Given the description of an element on the screen output the (x, y) to click on. 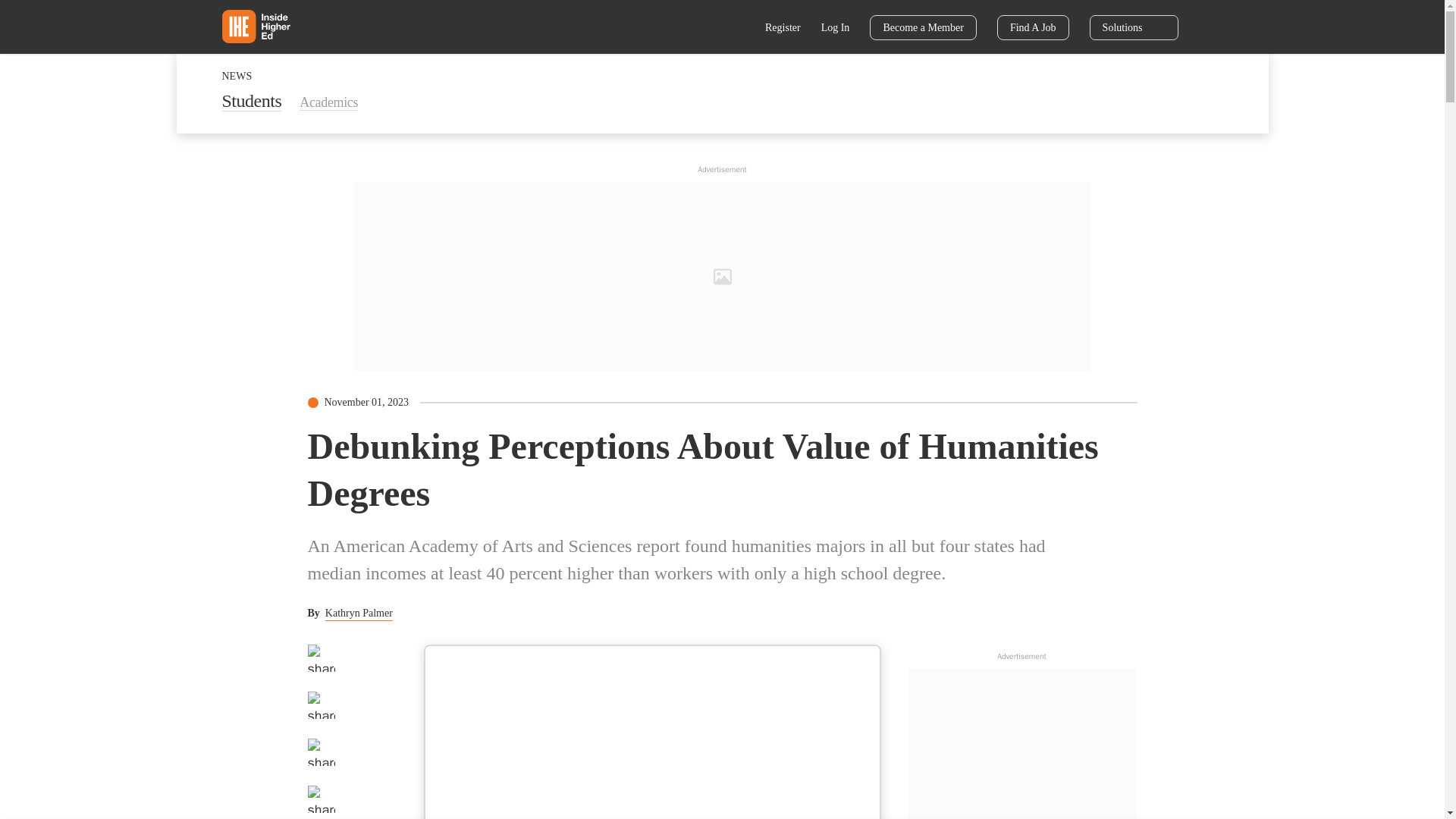
Home (255, 26)
share by email (320, 799)
share to Linkedin (320, 751)
Search (736, 28)
Find A Job (1032, 27)
share to twitter (320, 705)
share to facebook (320, 657)
Become a Member (922, 27)
